Given the description of an element on the screen output the (x, y) to click on. 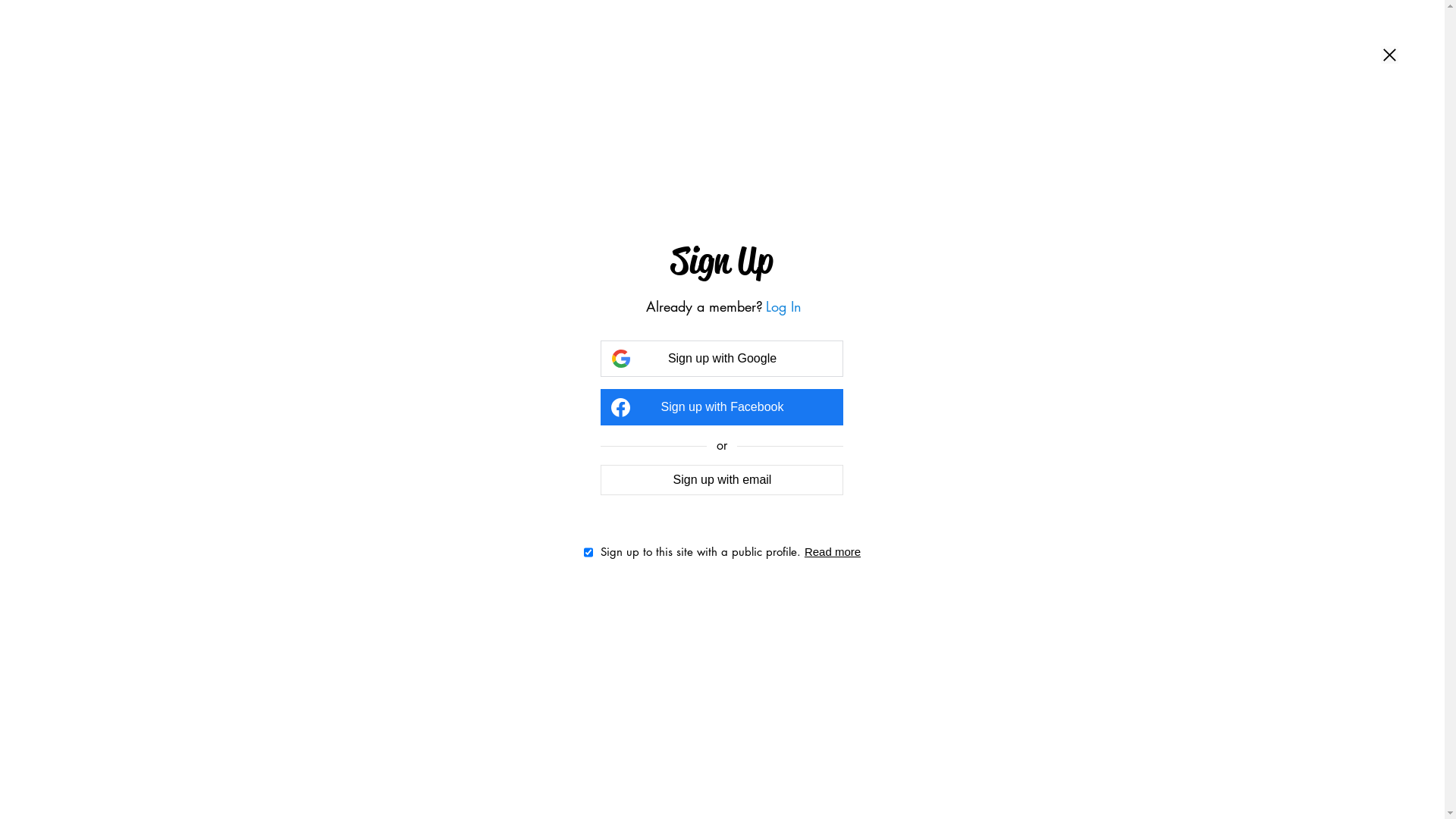
Log In Element type: text (783, 306)
Sign up with Facebook Element type: text (721, 407)
Sign up with Google Element type: text (721, 358)
Sign up with email Element type: text (721, 479)
Read more Element type: text (832, 551)
